Given the description of an element on the screen output the (x, y) to click on. 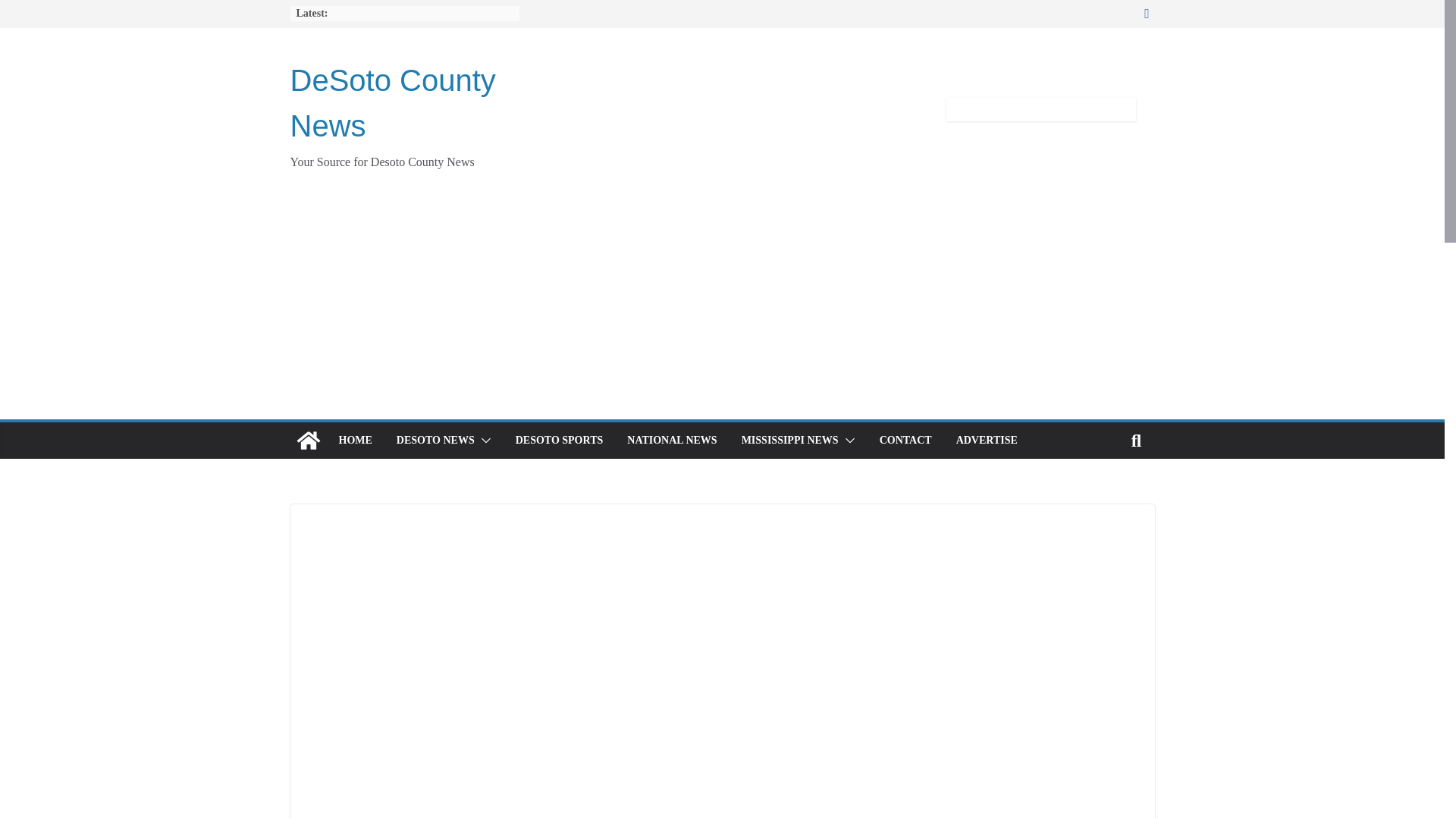
ADVERTISE (986, 440)
MISSISSIPPI NEWS (789, 440)
CONTACT (905, 440)
DeSoto County News (392, 102)
DESOTO NEWS (435, 440)
DESOTO SPORTS (559, 440)
HOME (354, 440)
DeSoto County News (392, 102)
NATIONAL NEWS (671, 440)
